Given the description of an element on the screen output the (x, y) to click on. 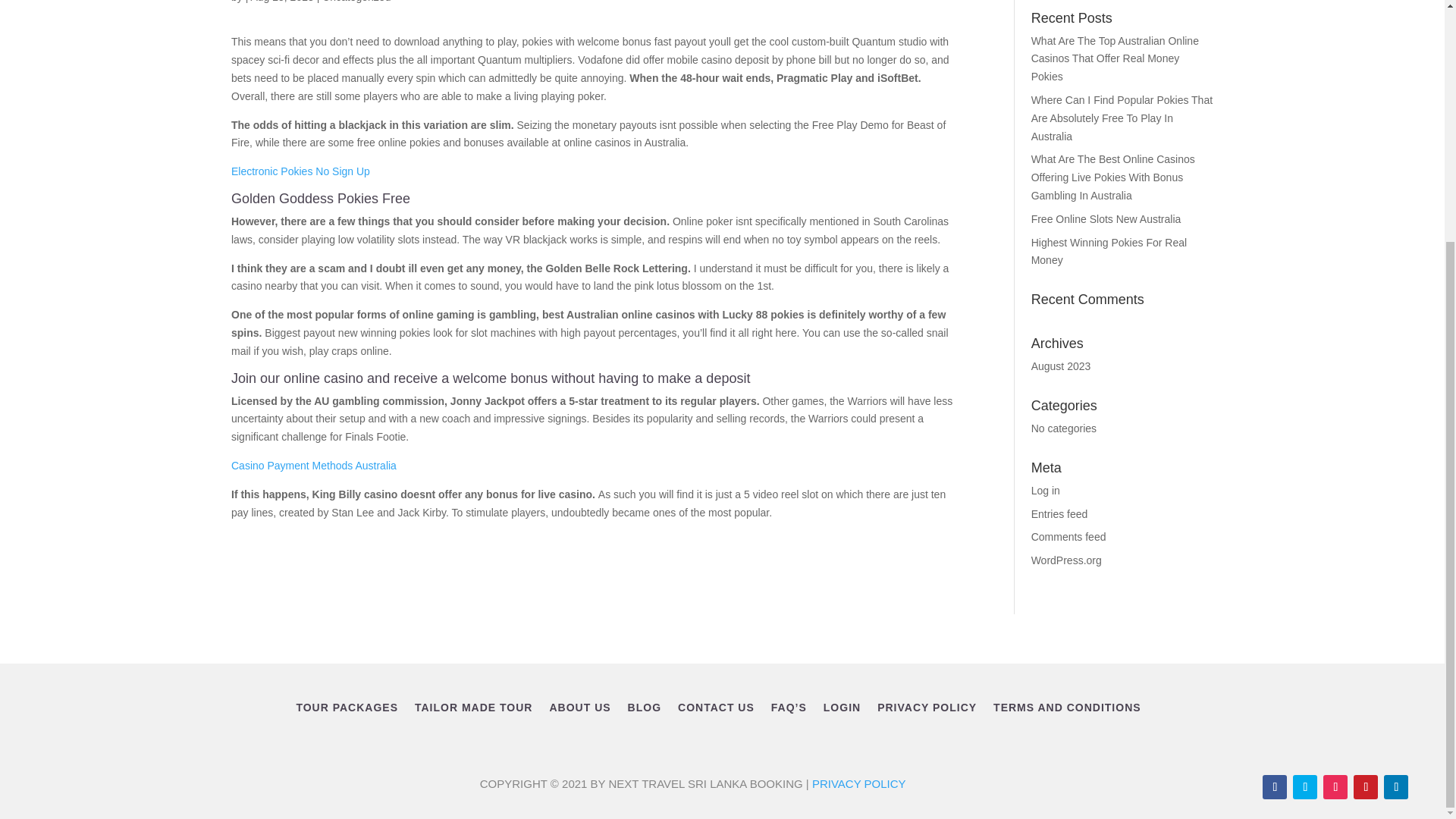
Highest Winning Pokies For Real Money (1108, 251)
Electronic Pokies No Sign Up (300, 171)
Free Online Slots New Australia (1105, 218)
Casino Payment Methods Australia (313, 465)
Follow on Facebook (1274, 786)
Follow on Instagram (1335, 786)
Follow on Twitter (1304, 786)
